Given the description of an element on the screen output the (x, y) to click on. 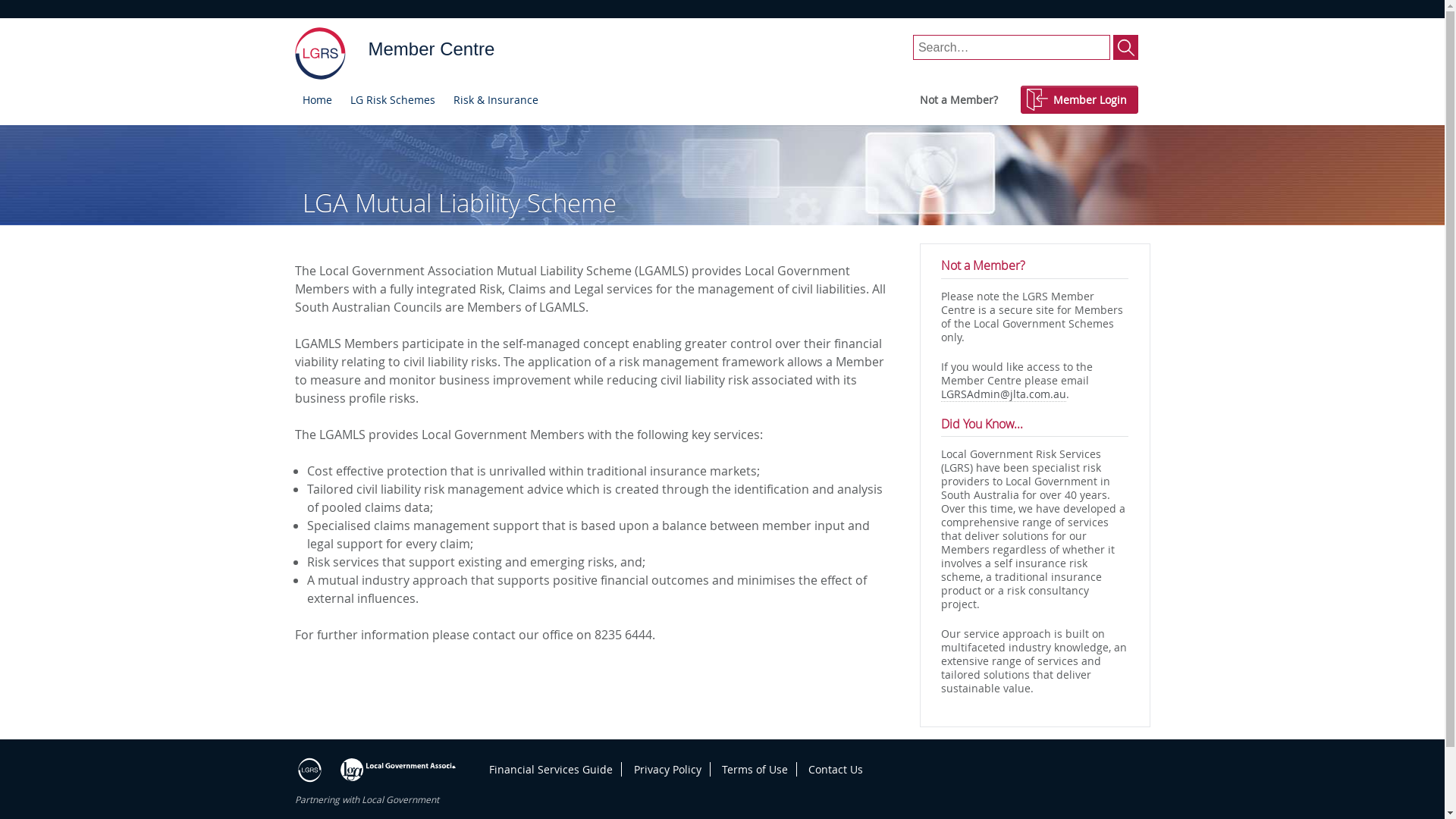
LG Risk Schemes Element type: text (392, 100)
Not a Member? Element type: text (958, 99)
Home Element type: text (316, 100)
JLT Extranet Element type: text (319, 53)
Contact Us Element type: text (835, 769)
Privacy Policy Element type: text (666, 769)
Search Element type: text (1125, 46)
Risk & Insurance Element type: text (495, 100)
LGRSAdmin@jlta.com.au Element type: text (1003, 394)
Member Login Element type: text (1079, 99)
Financial Services Guide Element type: text (550, 769)
Terms of Use Element type: text (755, 769)
